Given the description of an element on the screen output the (x, y) to click on. 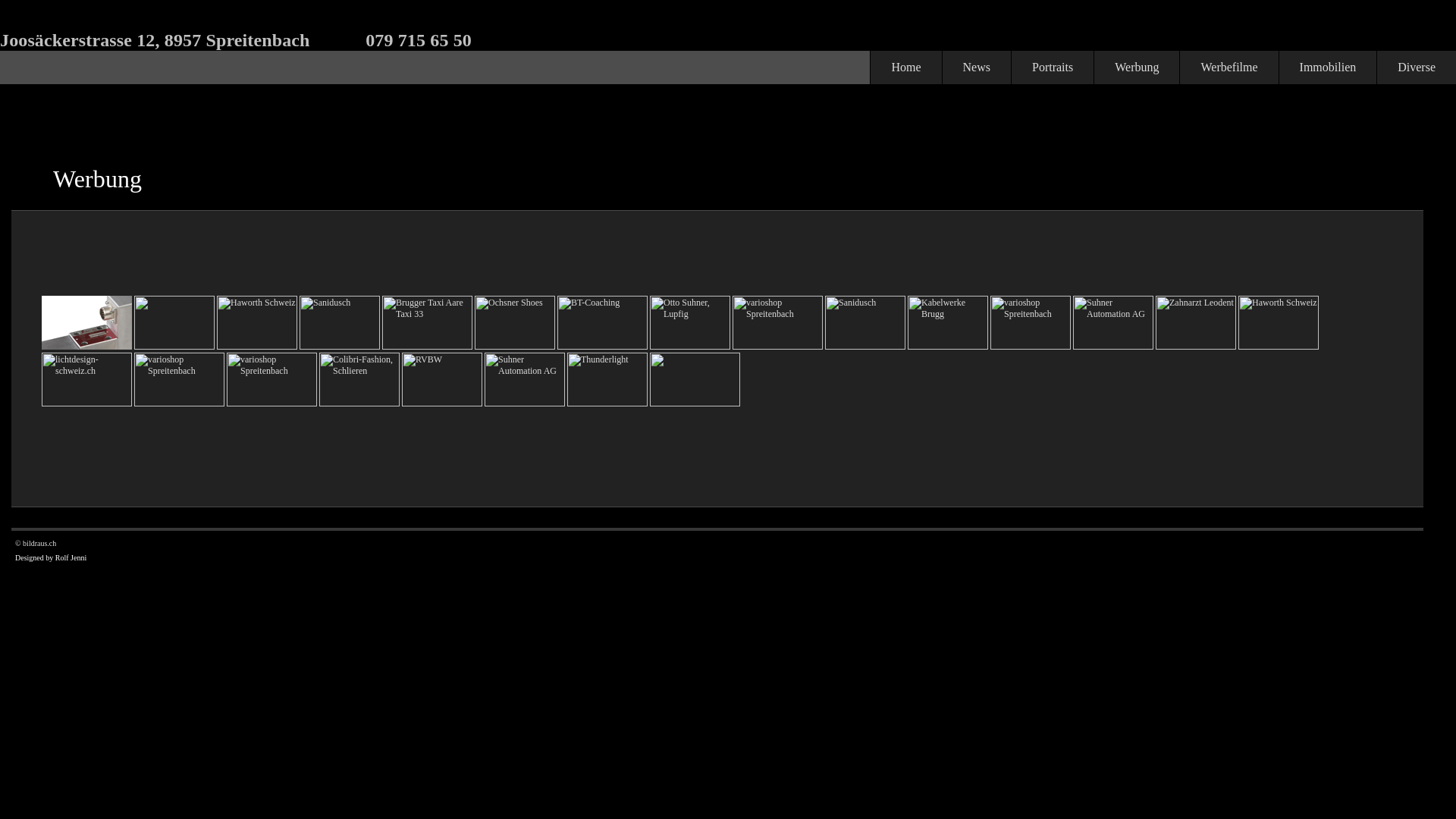
Werbung Element type: text (1136, 67)
Home Element type: text (905, 67)
Werbefilme Element type: text (1228, 67)
Designed by Rolf Jenni Element type: text (50, 556)
News Element type: text (975, 67)
Immobilien Element type: text (1327, 67)
Portraits Element type: text (1051, 67)
